Given the description of an element on the screen output the (x, y) to click on. 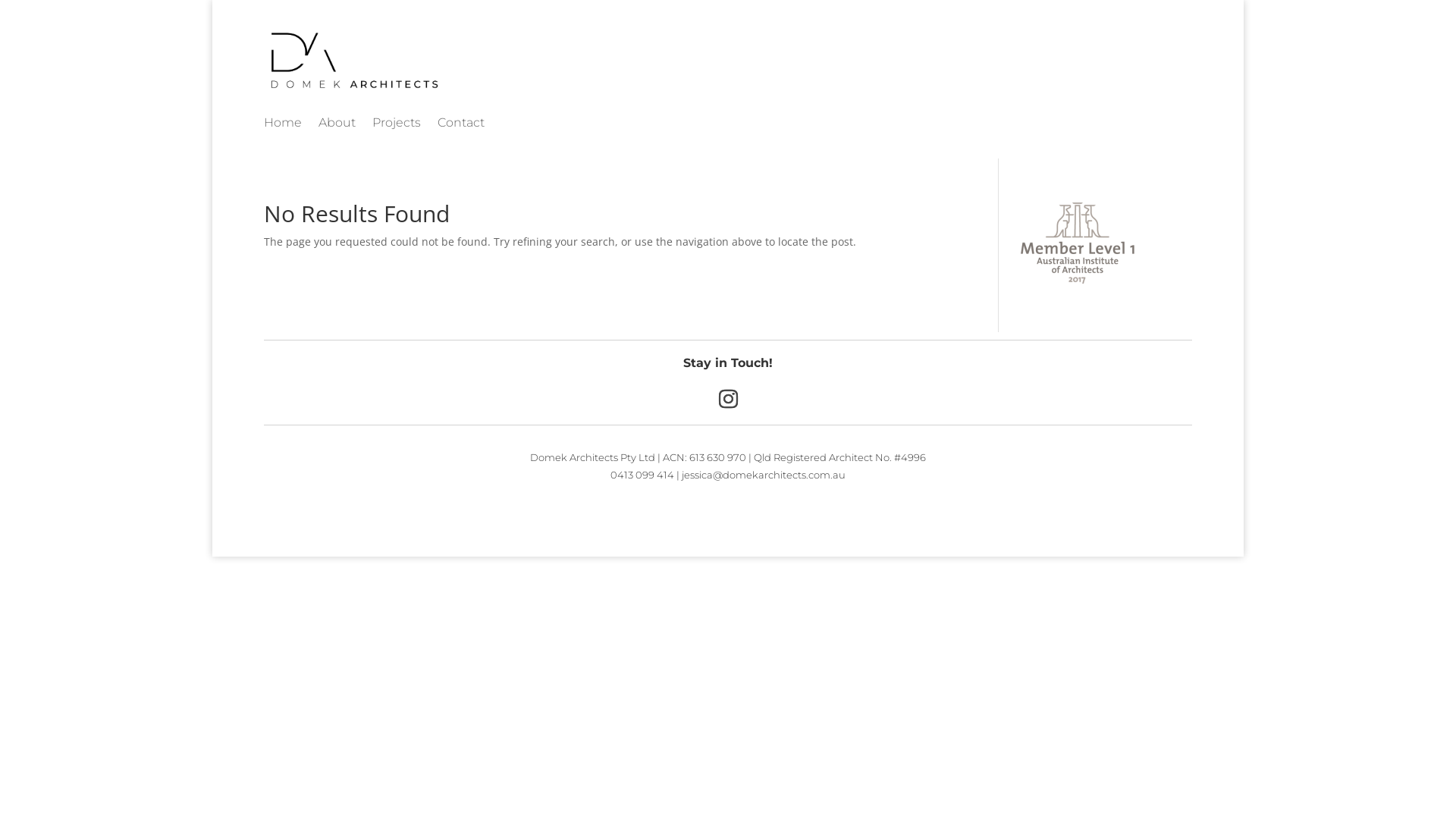
Domek_Logo_JPG_5 Element type: hover (351, 58)
About Element type: text (336, 125)
Projects Element type: text (396, 125)
Follow on Instagram Element type: hover (727, 399)
Home Element type: text (282, 125)
Contact Element type: text (460, 125)
